Given the description of an element on the screen output the (x, y) to click on. 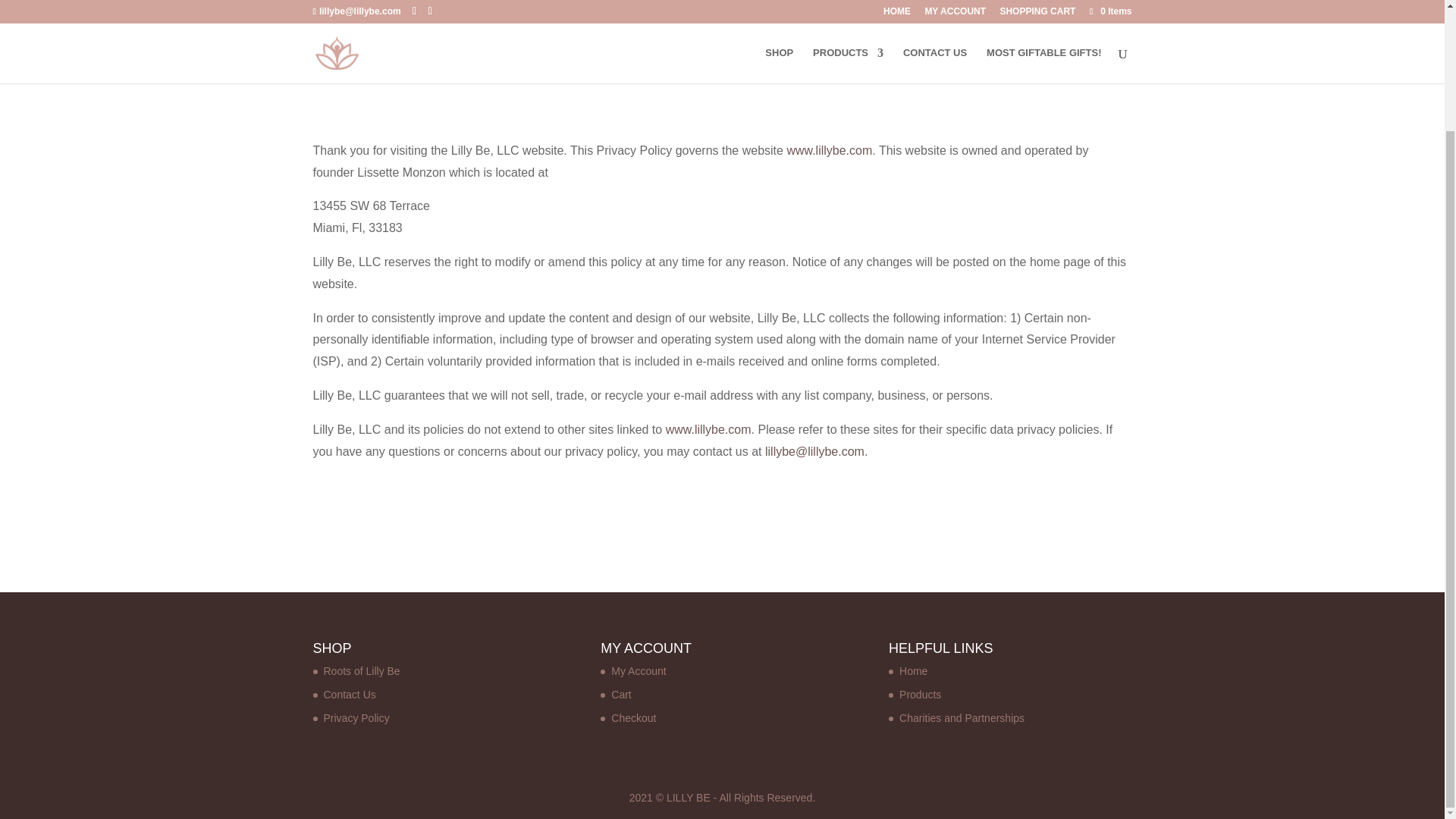
Home (913, 671)
Checkout (633, 717)
My Account (638, 671)
Roots of Lilly Be (360, 671)
Products (919, 694)
Privacy Policy (355, 717)
www.lillybe.com (708, 429)
www.lillybe.com (829, 150)
Contact Us (349, 694)
Cart (620, 694)
